Given the description of an element on the screen output the (x, y) to click on. 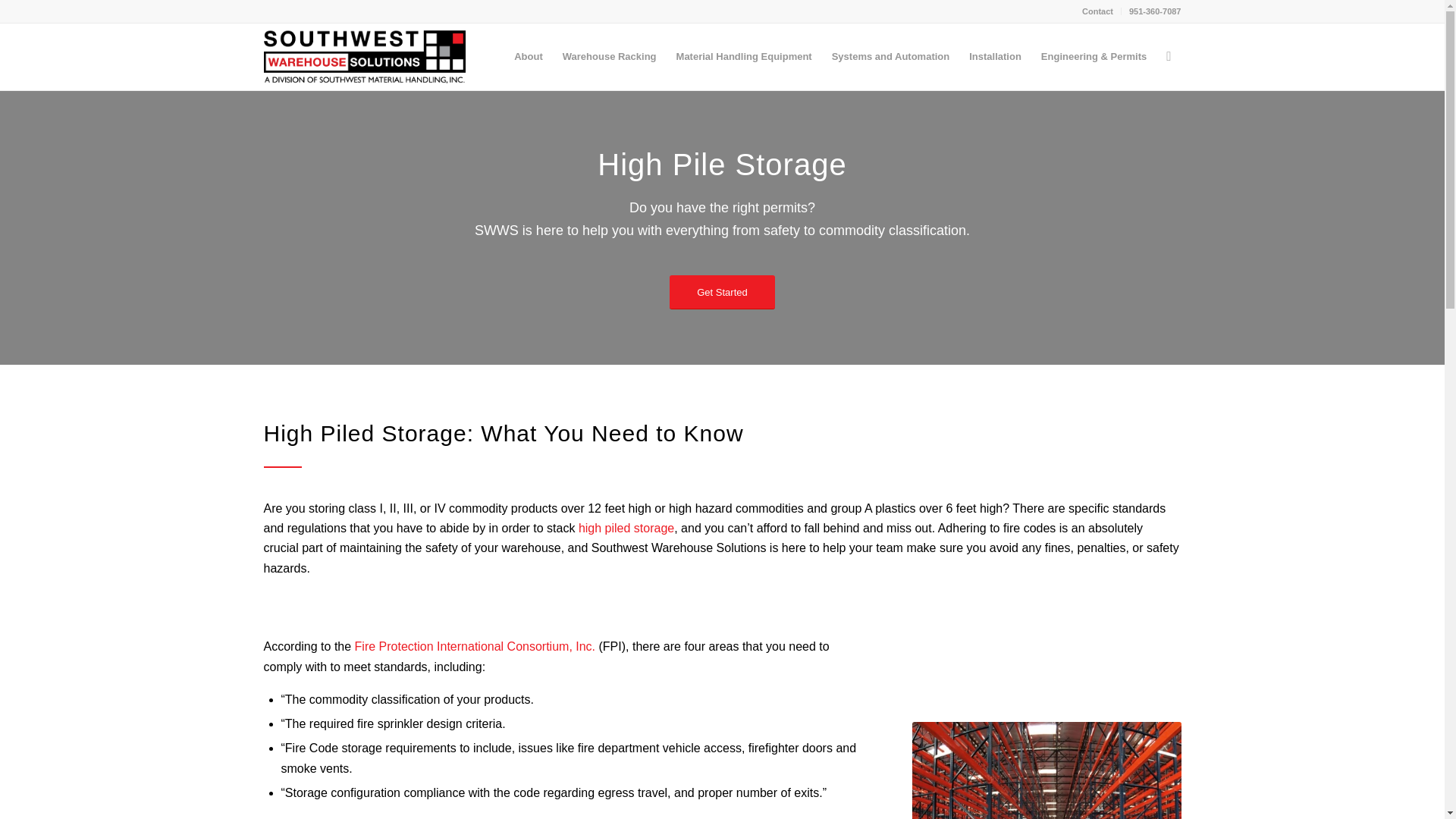
Contact (1097, 11)
Warehouse Racking (609, 56)
About (528, 56)
High-Pile-Rack-Aisle-Shot (1046, 770)
951-360-7087 (1154, 11)
